Given the description of an element on the screen output the (x, y) to click on. 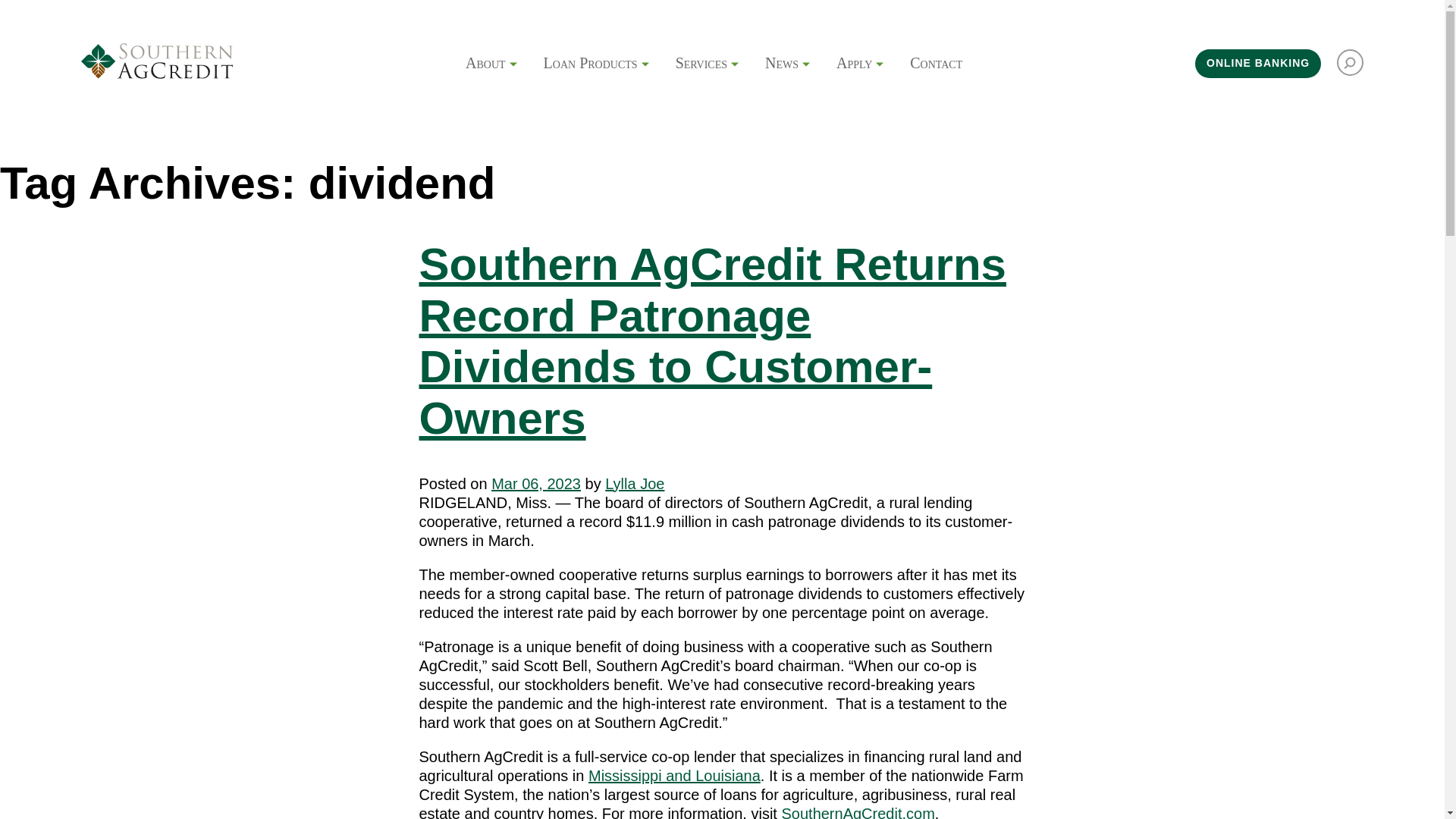
Search (1349, 62)
3:28 pm (536, 483)
ONLINE BANKING (1257, 63)
Log In (1257, 63)
View all posts by Lylla Joe (634, 483)
News (781, 63)
About (485, 63)
Southern AgCredit (156, 63)
Services (700, 63)
Apply (853, 63)
Contact (936, 63)
Loan Products (590, 63)
